Given the description of an element on the screen output the (x, y) to click on. 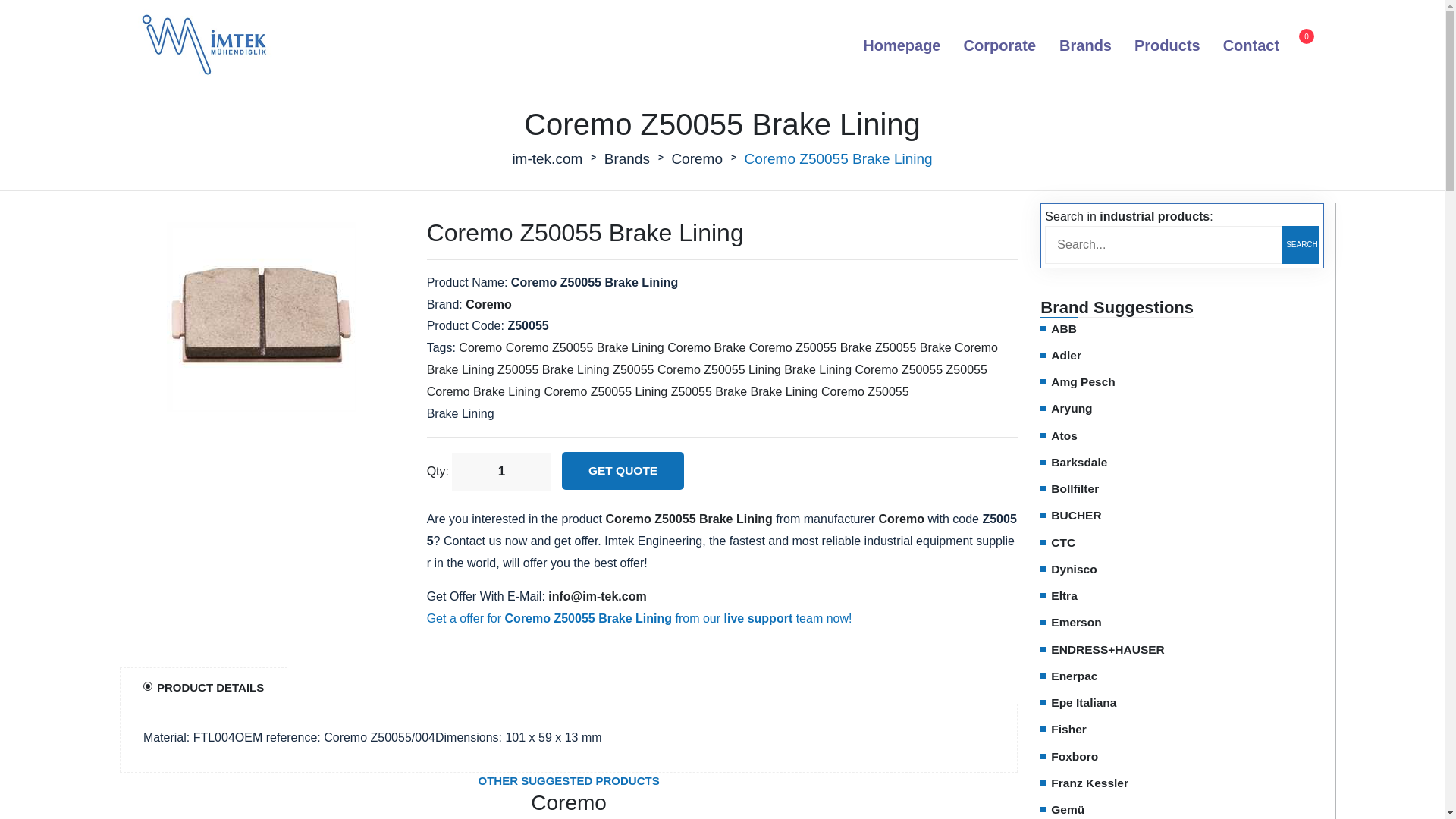
Z50055 Brake (913, 347)
Coremo Z50055 Brake Lining (584, 347)
GET QUOTE (623, 470)
Home page (901, 45)
im-tek.com (547, 159)
Coremo Z50055 Lining (719, 369)
Coremo (696, 159)
Corporate (999, 45)
Z50055 (966, 369)
Coremo (488, 304)
Brands (626, 159)
Z50055 Brake (709, 391)
Check out all industrial products! (1166, 45)
Homepage (901, 45)
